Given the description of an element on the screen output the (x, y) to click on. 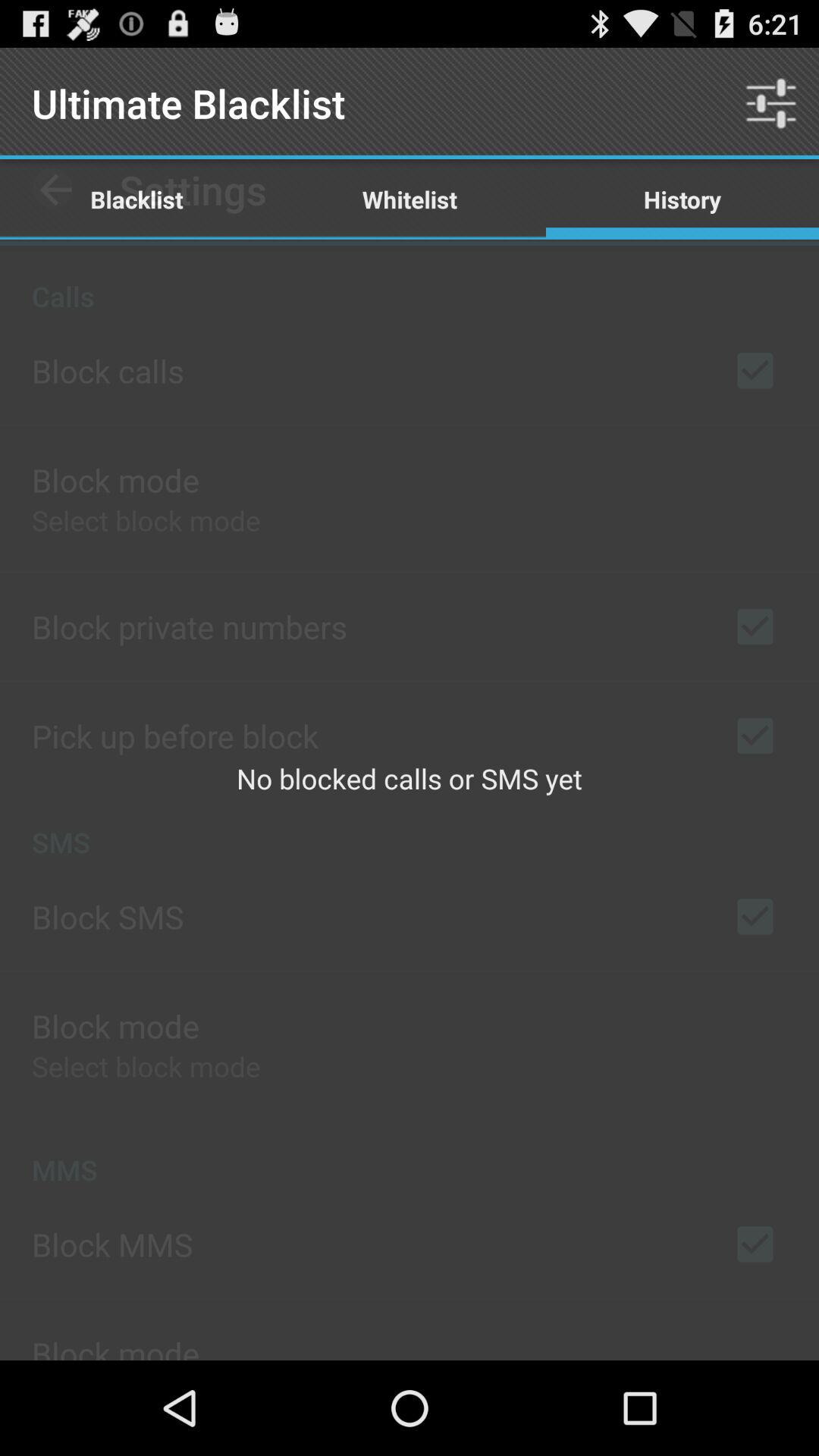
tap icon below ultimate blacklist icon (409, 199)
